Given the description of an element on the screen output the (x, y) to click on. 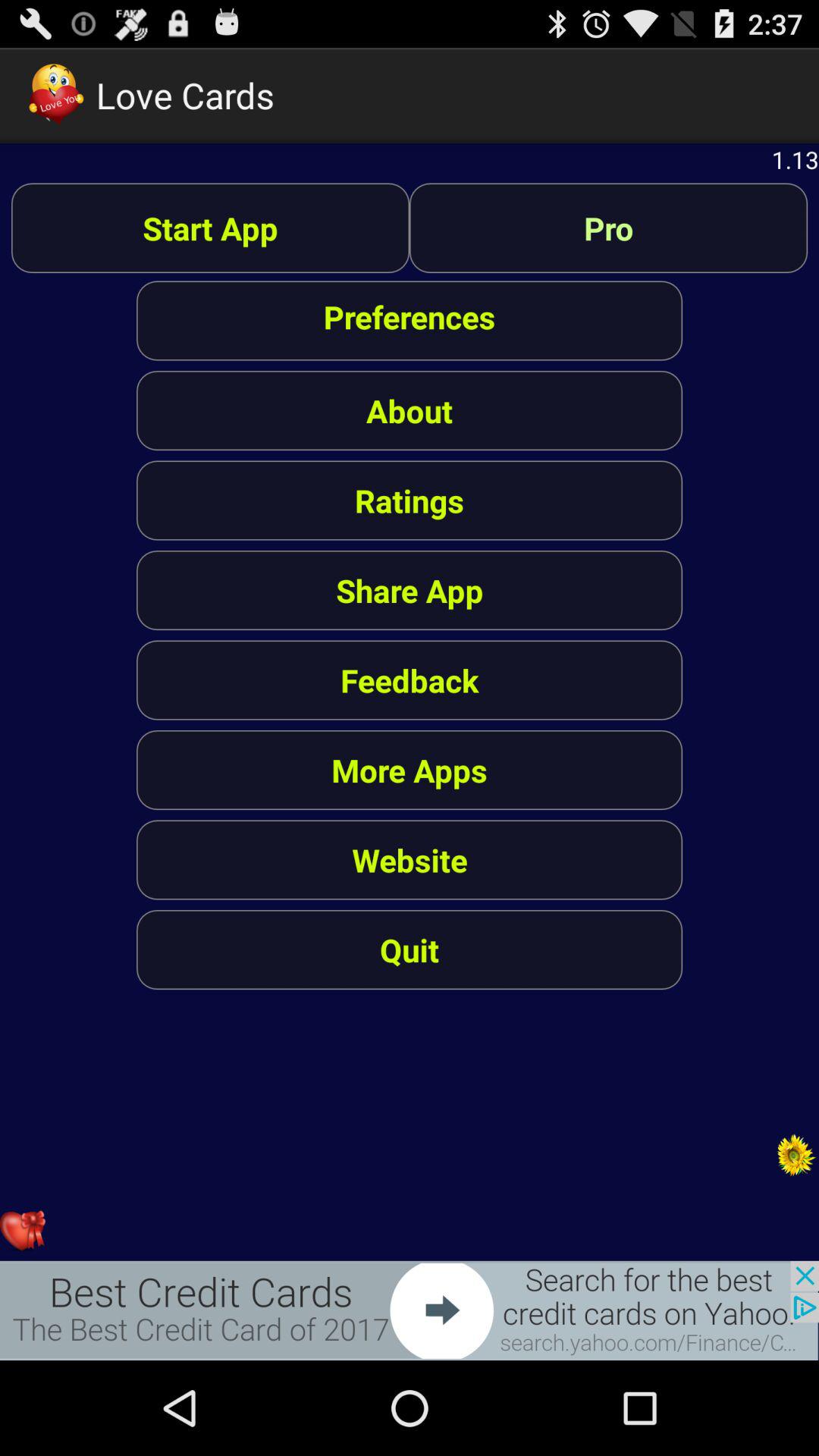
advertisement page (409, 1310)
